Given the description of an element on the screen output the (x, y) to click on. 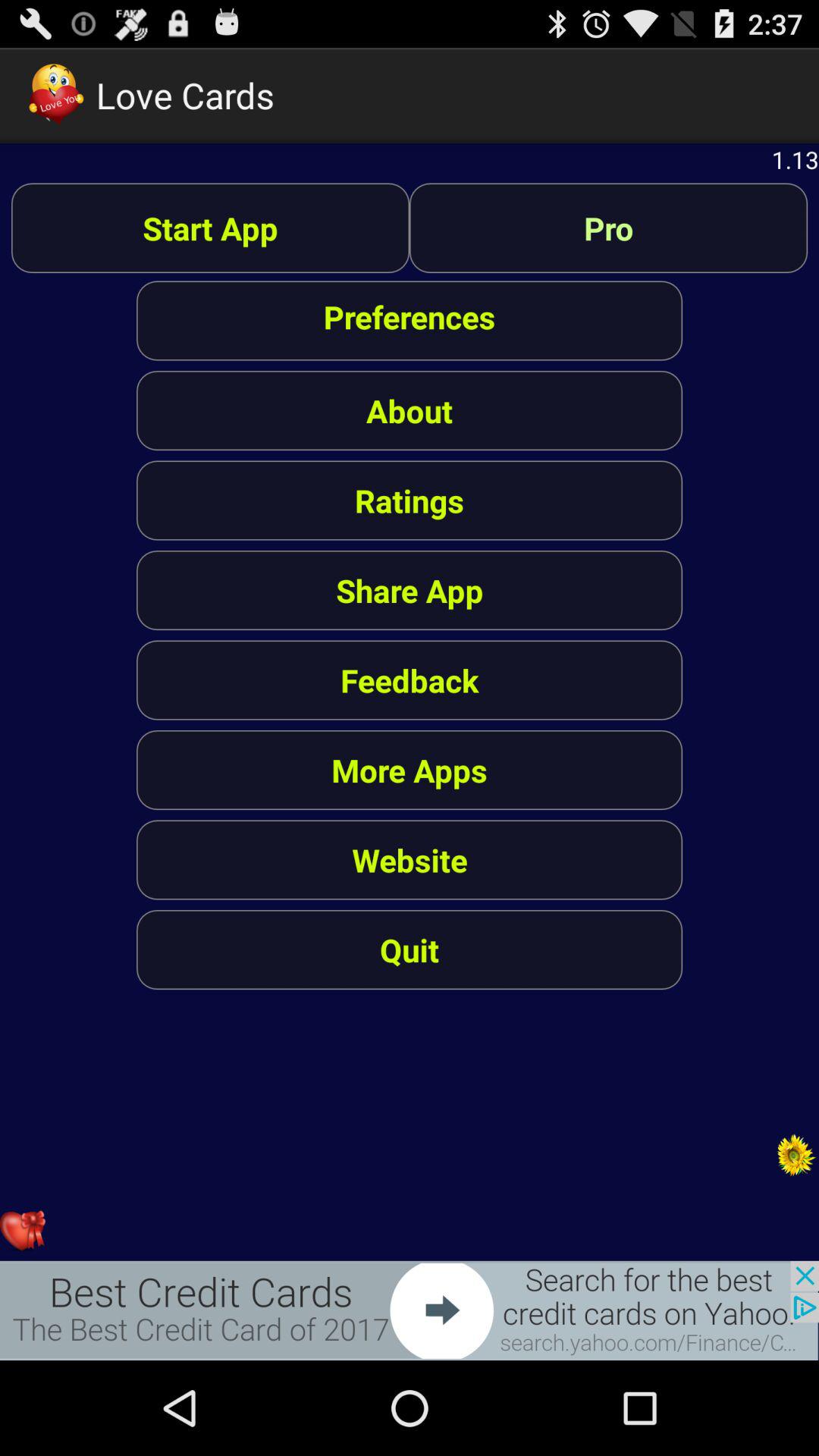
advertisement page (409, 1310)
